Given the description of an element on the screen output the (x, y) to click on. 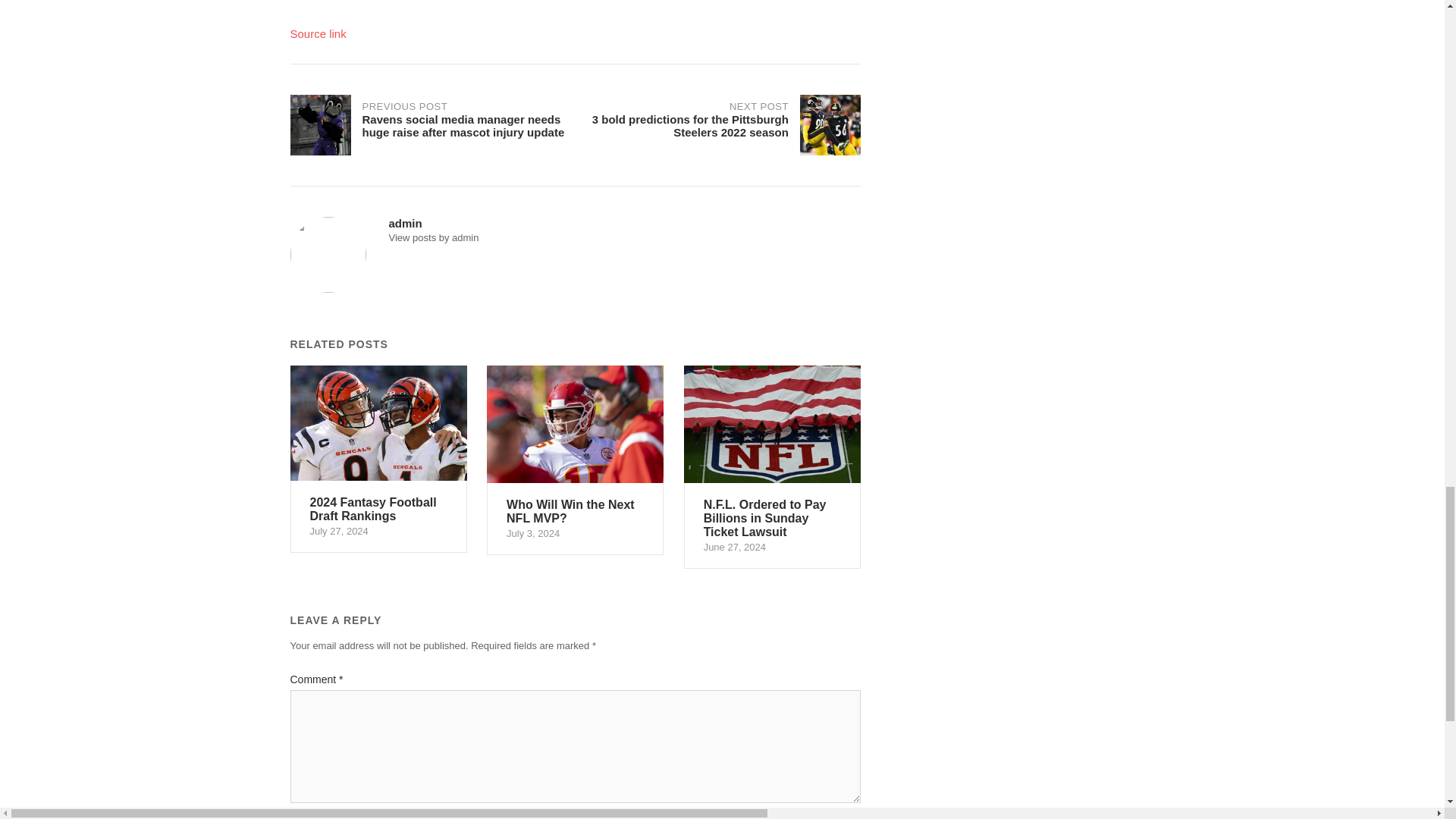
Who Will Win the Next NFL MVP? (574, 460)
View posts by admin (433, 237)
Source link (377, 459)
2024 Fantasy Football Draft Rankings (574, 460)
